Given the description of an element on the screen output the (x, y) to click on. 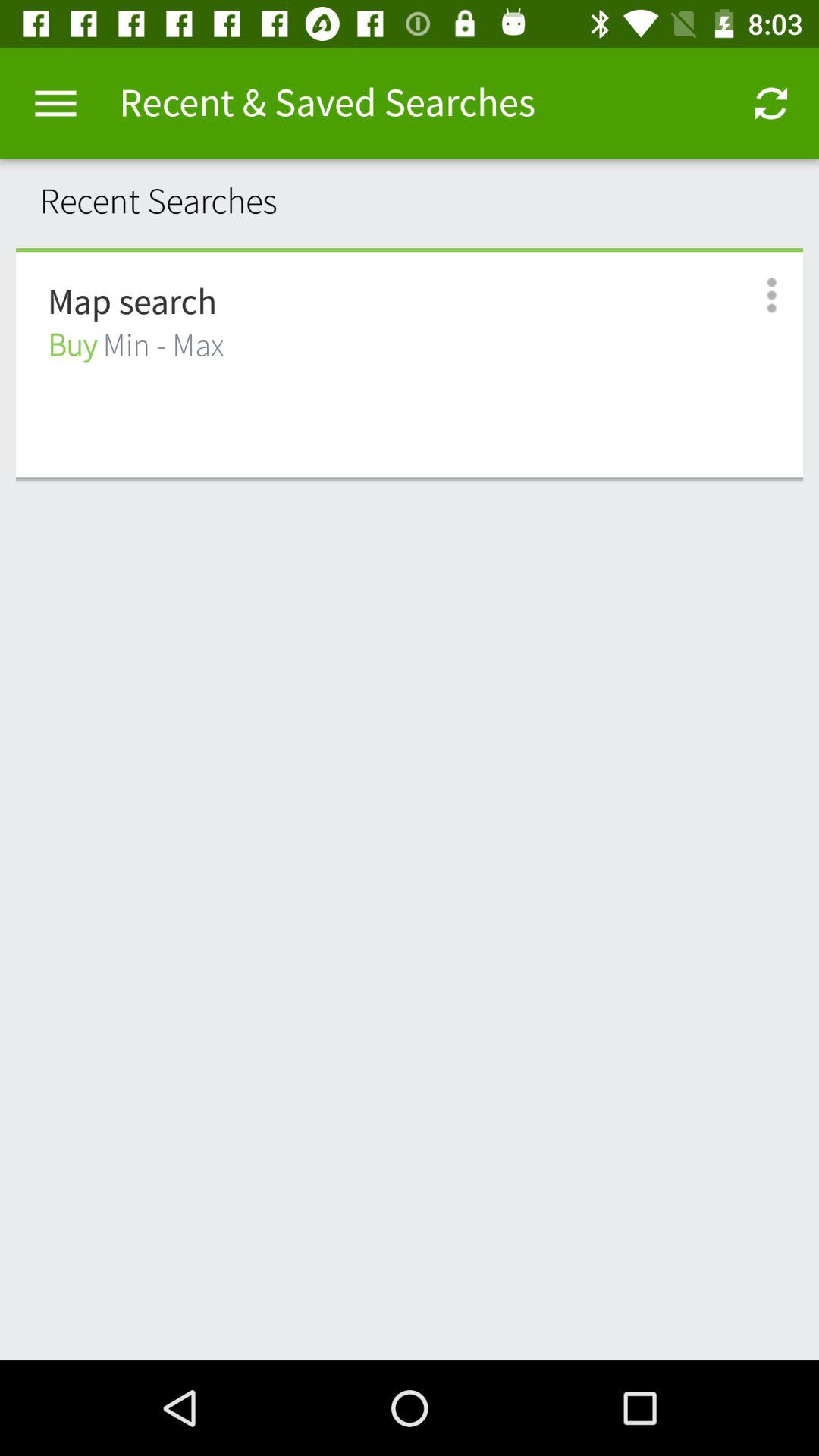
press item to the left of the recent & saved searches item (55, 103)
